Given the description of an element on the screen output the (x, y) to click on. 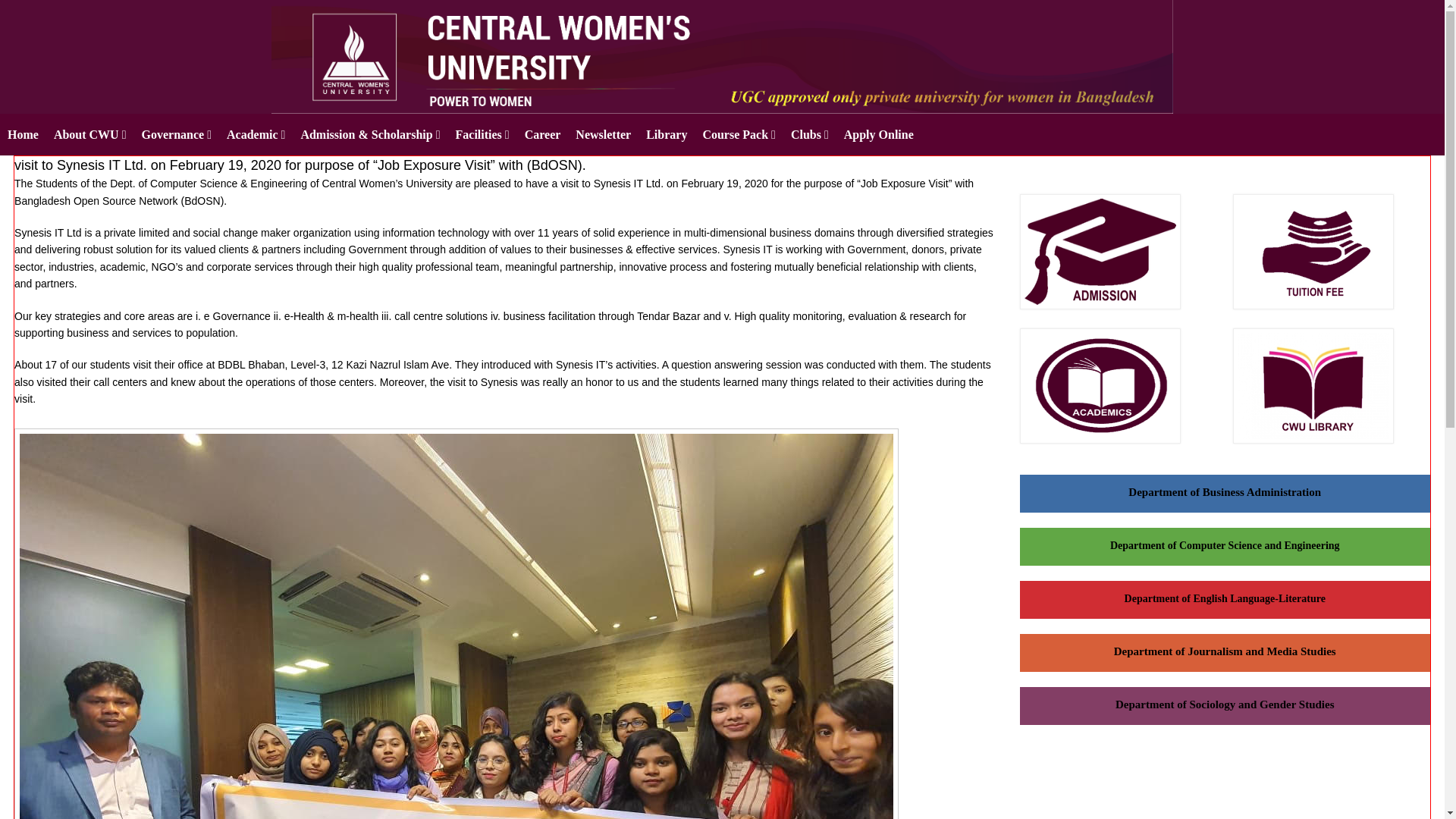
About CWU (89, 134)
Governance (176, 134)
Home (23, 134)
Academic (255, 134)
